Given the description of an element on the screen output the (x, y) to click on. 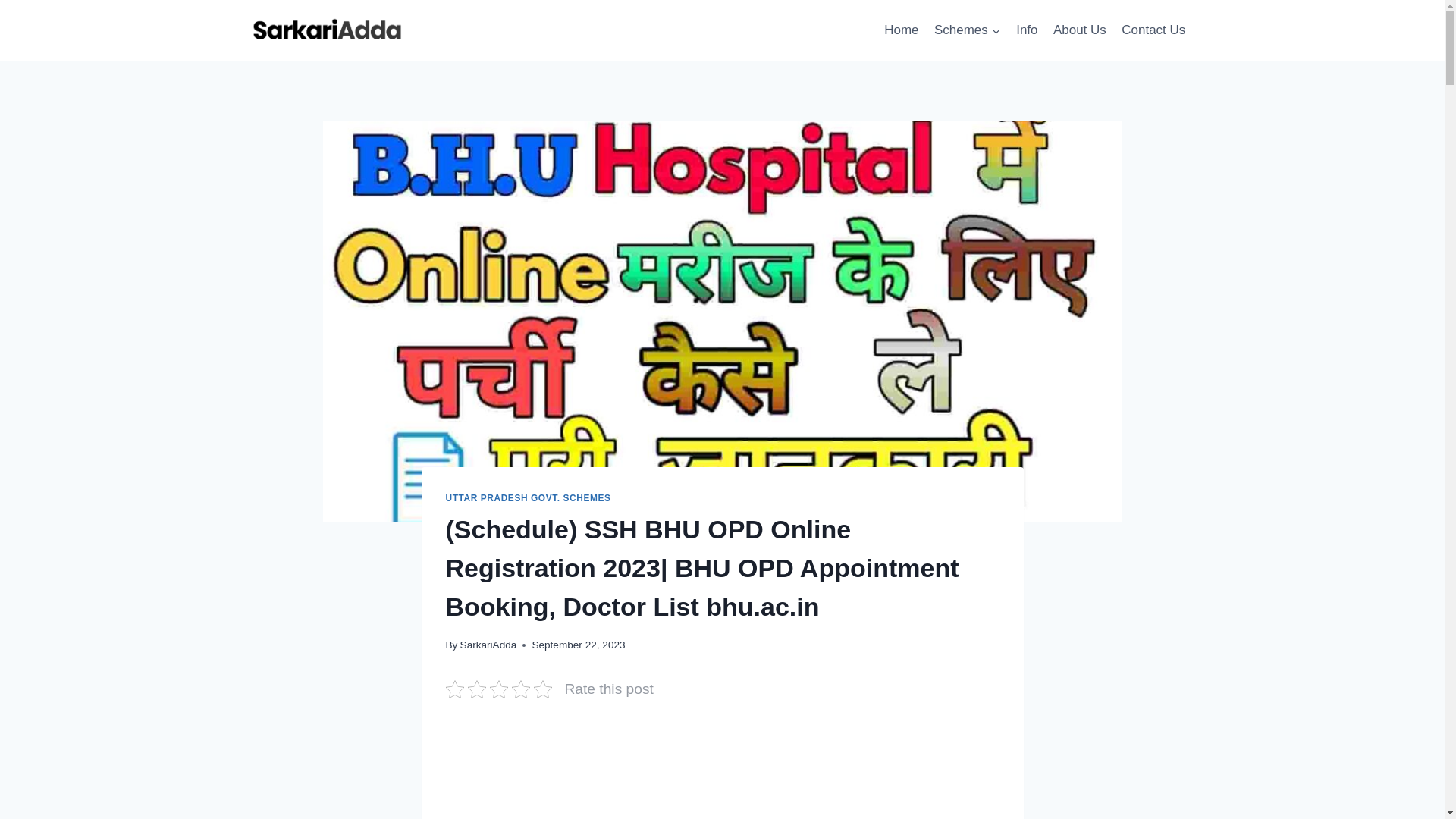
Home (901, 30)
Contact Us (1152, 30)
SarkariAdda (488, 644)
About Us (1079, 30)
UTTAR PRADESH GOVT. SCHEMES (528, 498)
Advertisement (721, 771)
Info (1027, 30)
Schemes (967, 30)
